Given the description of an element on the screen output the (x, y) to click on. 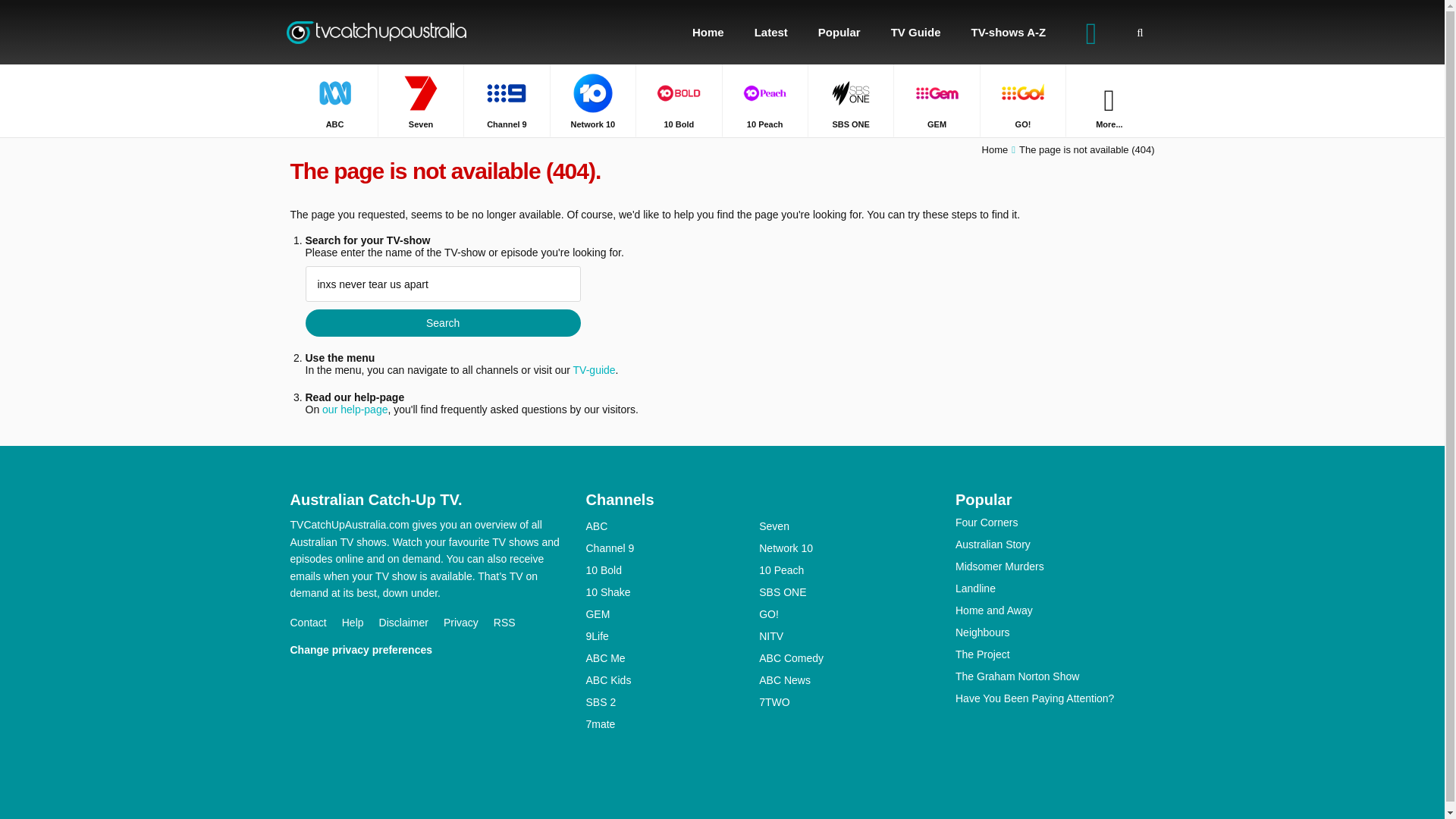
Search (441, 322)
10 Bold (678, 100)
10 Peach (764, 100)
Seven (420, 100)
RSS (512, 622)
More... (1108, 100)
GO! (1022, 100)
ABC (334, 100)
TV Guide (916, 32)
